Given the description of an element on the screen output the (x, y) to click on. 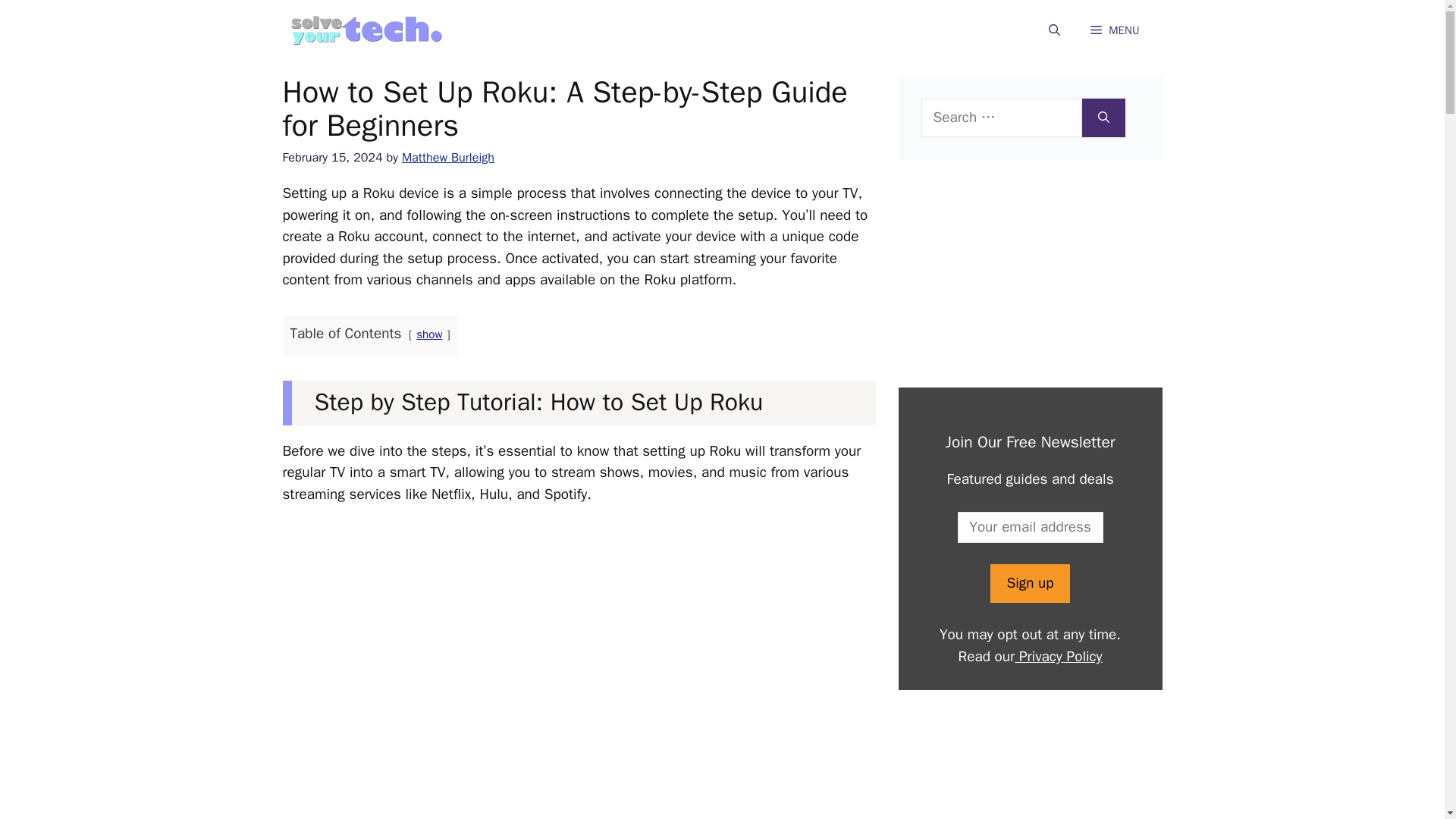
Matthew Burleigh (448, 157)
Sign up (1029, 583)
View all posts by Matthew Burleigh (448, 157)
show (429, 334)
Solve Your Tech (365, 30)
MENU (1114, 30)
